Given the description of an element on the screen output the (x, y) to click on. 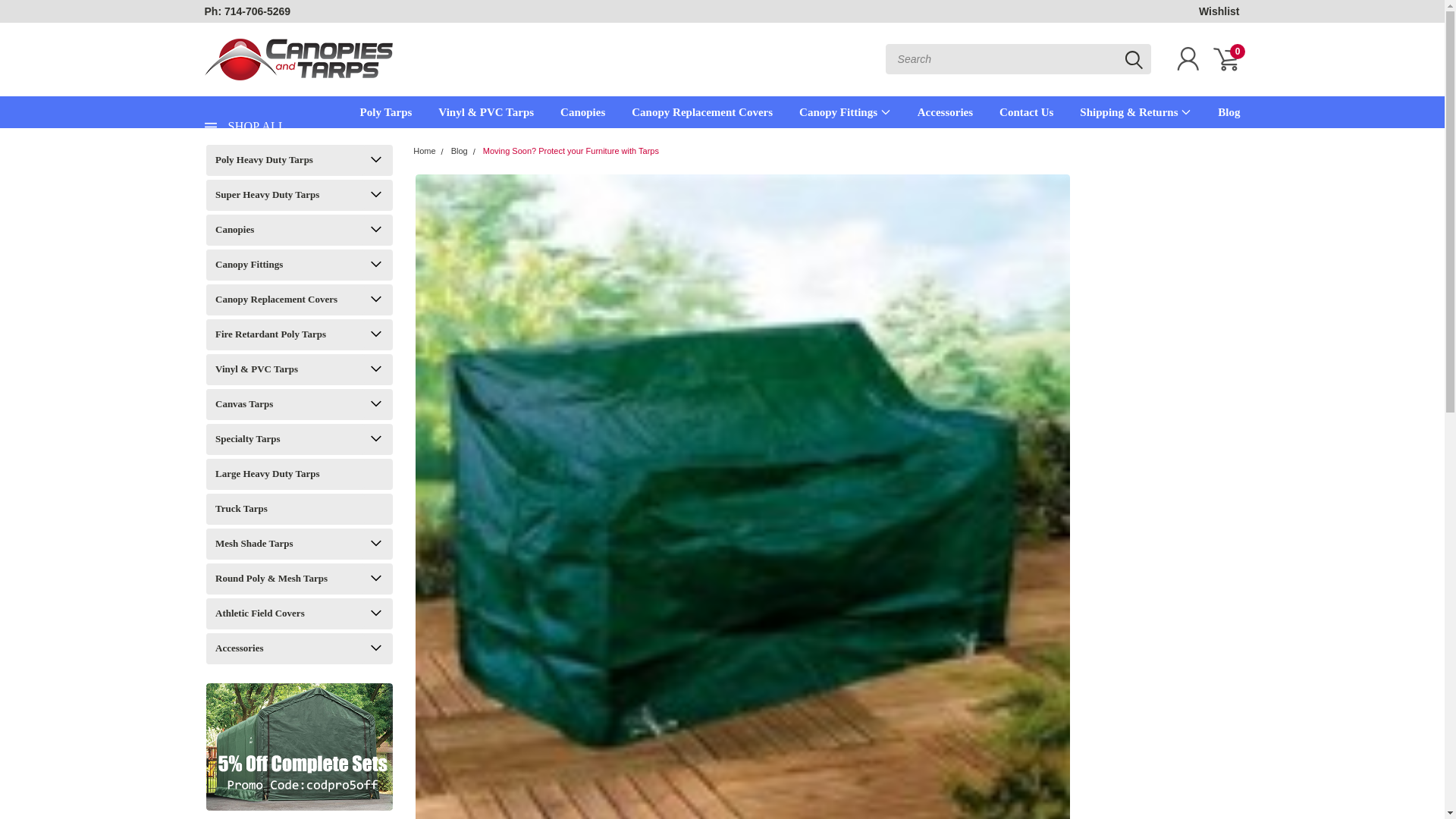
Ph: 714-706-5269 (248, 10)
0 (1225, 59)
Canopies and Tarps (299, 59)
Wishlist (1219, 10)
